Given the description of an element on the screen output the (x, y) to click on. 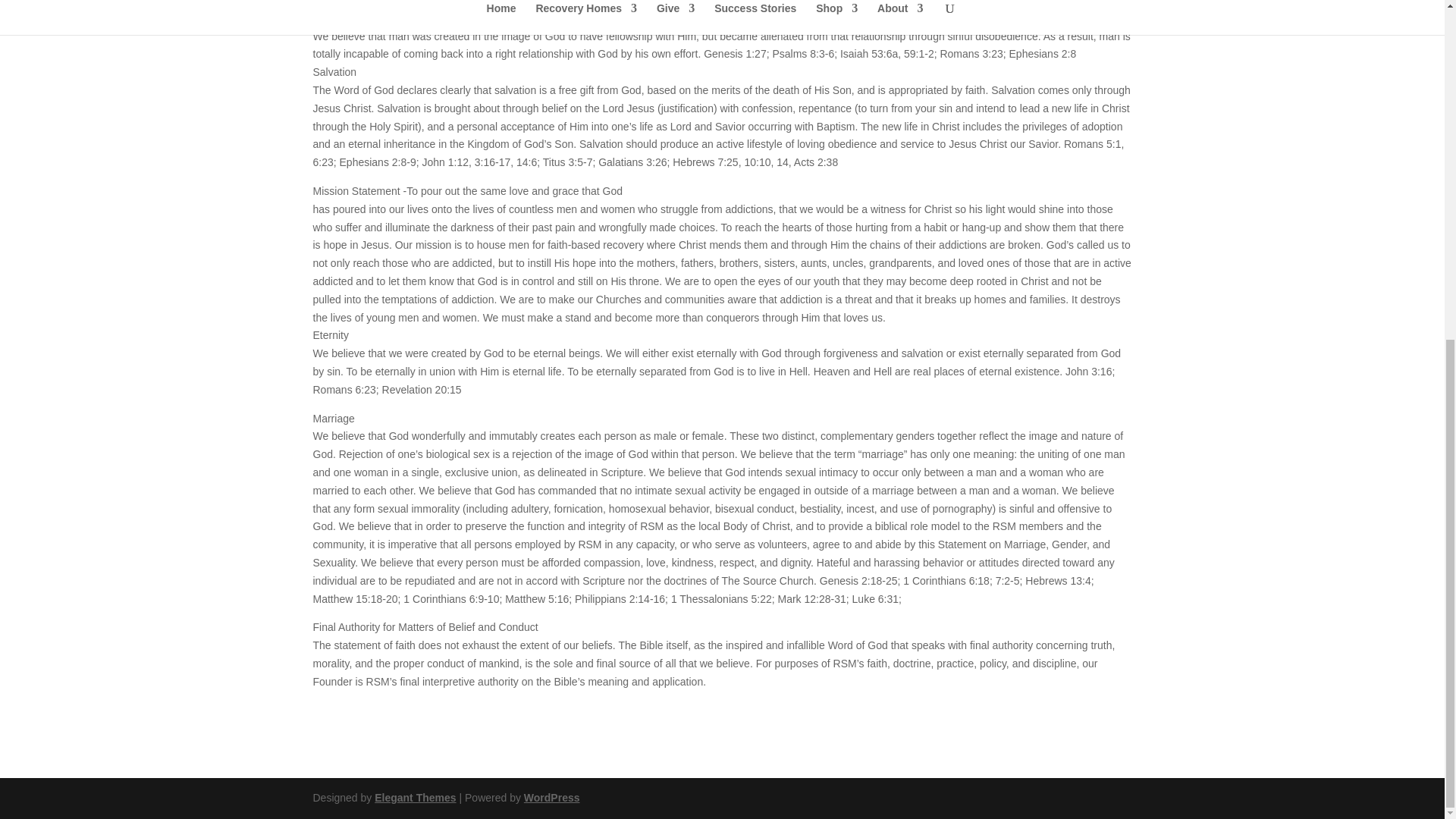
WordPress (551, 797)
Premium WordPress Themes (414, 797)
Elegant Themes (414, 797)
